Given the description of an element on the screen output the (x, y) to click on. 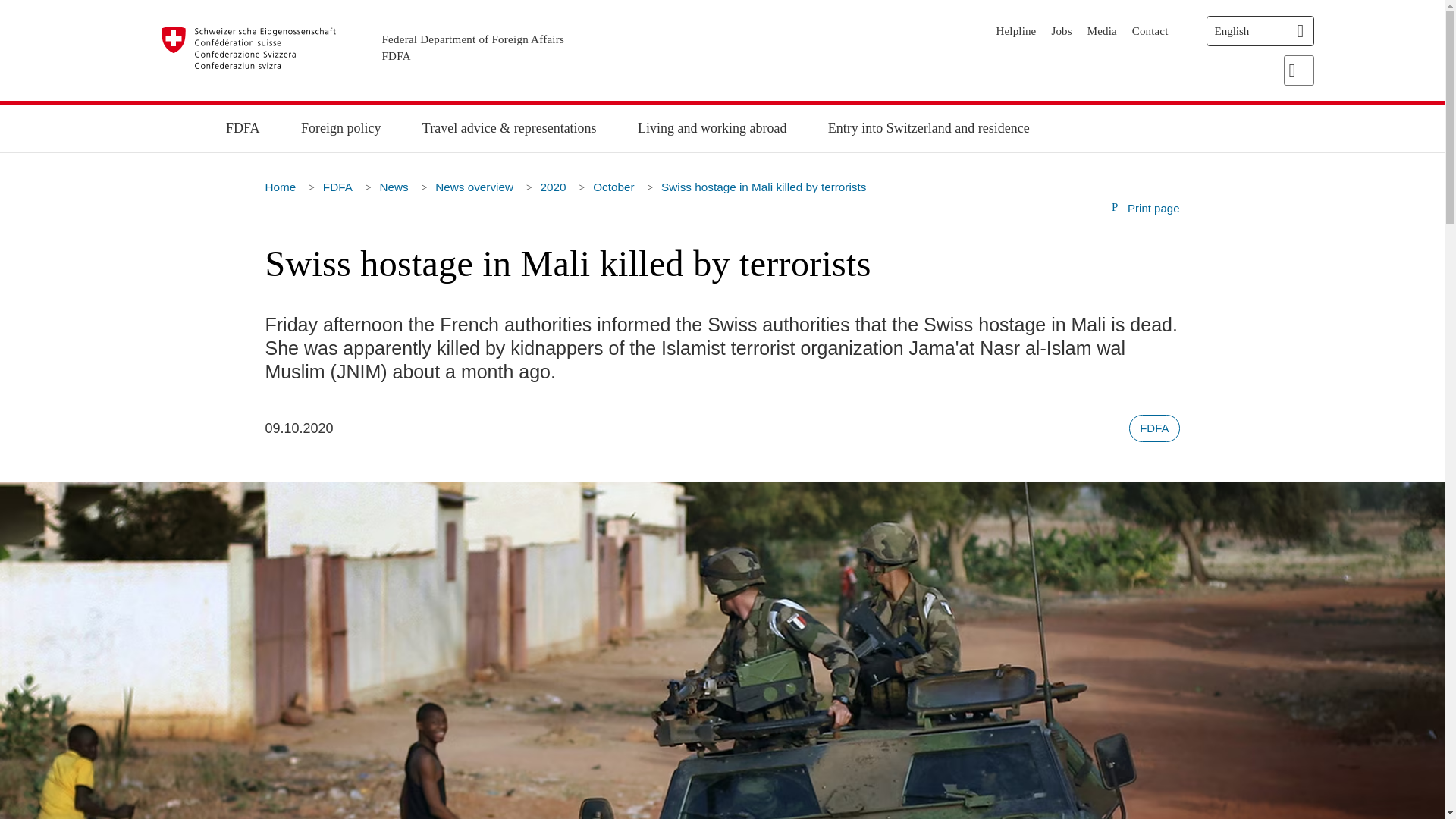
Media (1101, 30)
Helpline (1015, 30)
Contact (1150, 30)
Federal Department of Foreign Affairs FDFA (472, 48)
Jobs (1061, 30)
